Given the description of an element on the screen output the (x, y) to click on. 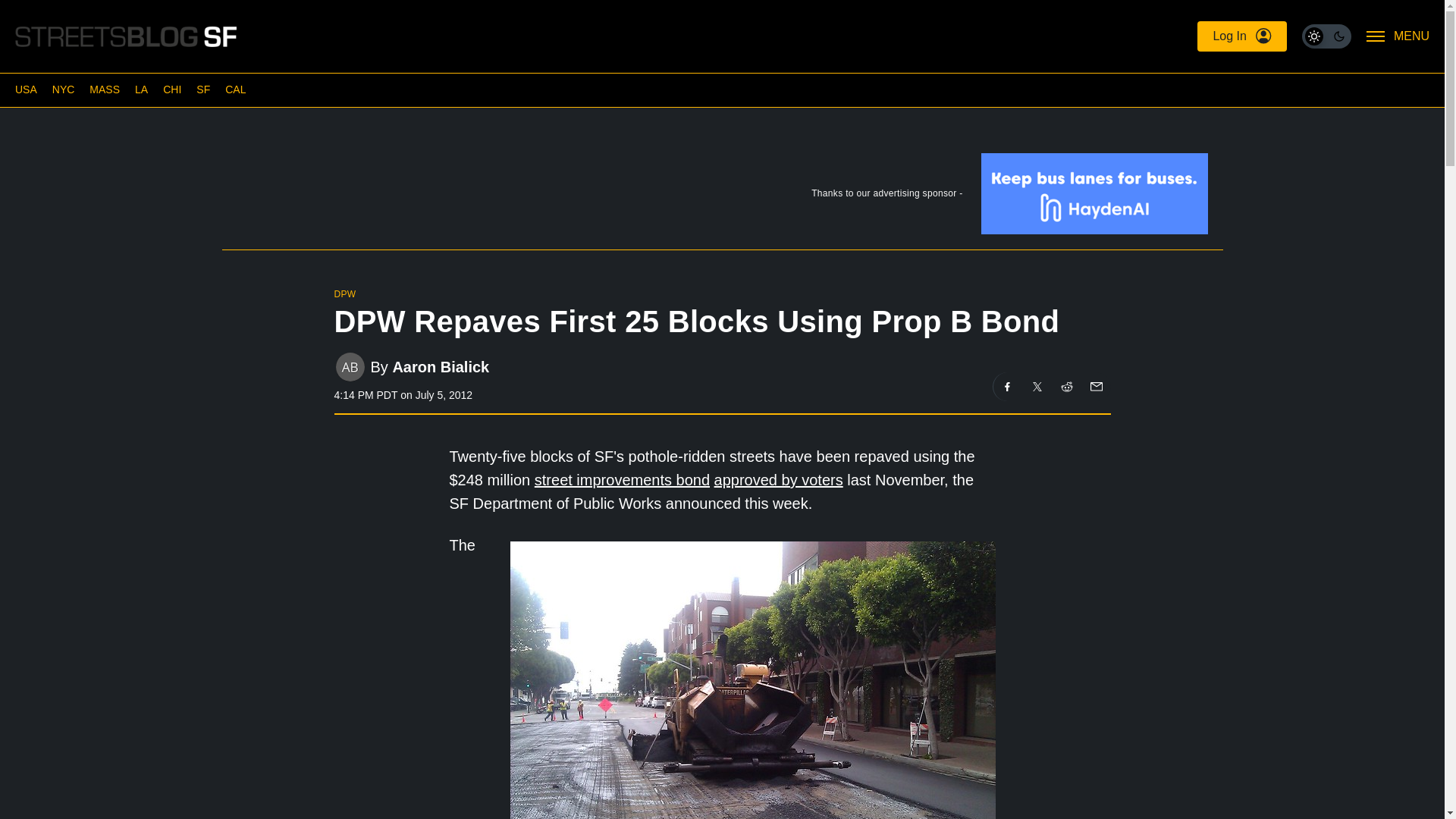
CAL (235, 89)
CHI (171, 89)
Share on Reddit (1066, 386)
Aaron Bialick (440, 366)
approved by voters (778, 479)
Log In (1240, 36)
street improvements bond (622, 479)
USA (25, 89)
Thanks to our advertising sponsor - (721, 196)
NYC (63, 89)
MENU (1398, 36)
MASS (103, 89)
Share on Facebook (1007, 386)
Share on Email (1095, 386)
DPW (344, 294)
